Given the description of an element on the screen output the (x, y) to click on. 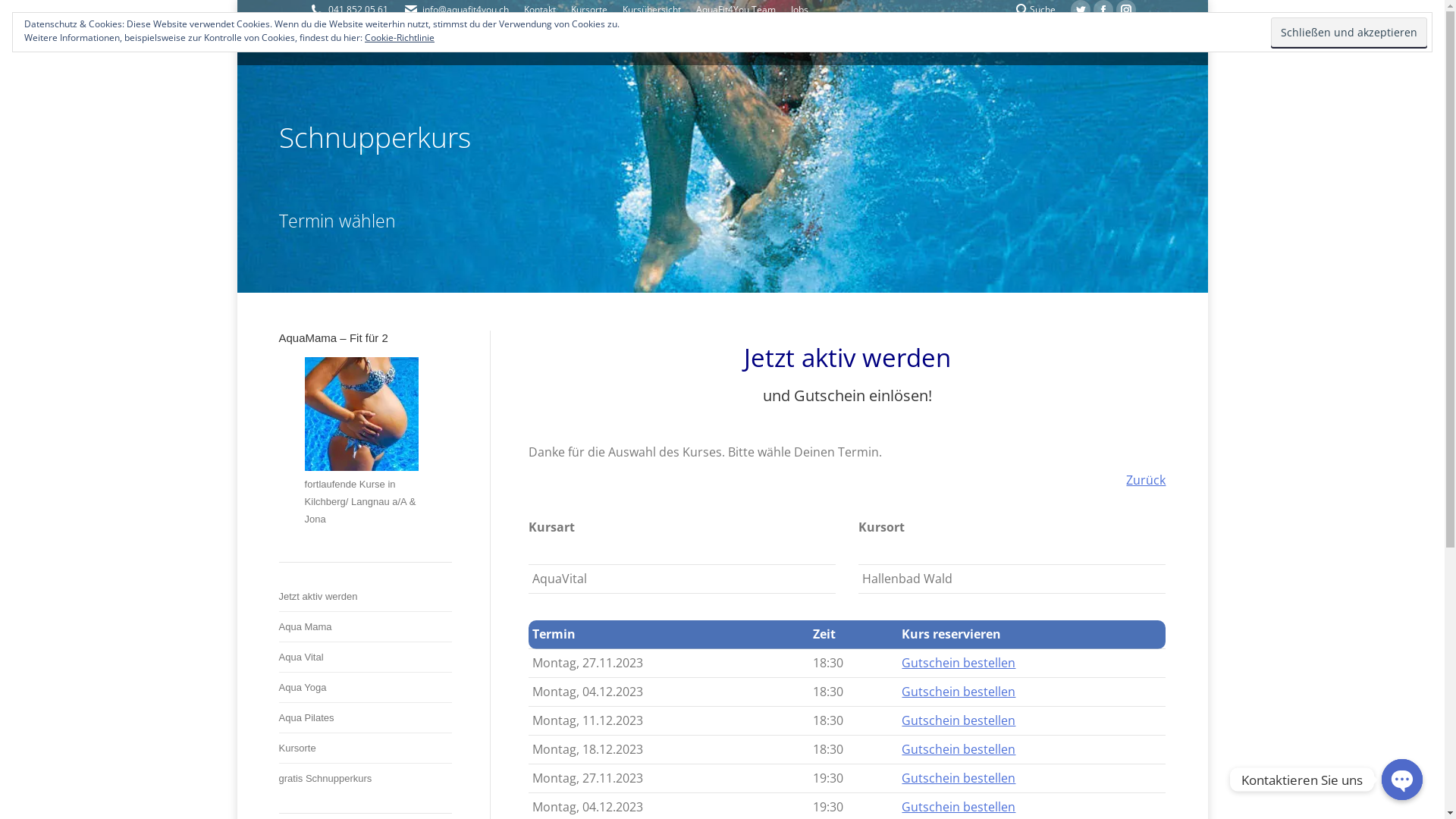
Facebook page opens in new window Element type: text (1103, 9)
Los! Element type: text (26, 17)
Aqua Pilates Element type: text (306, 717)
Jetzt aktiv werden Element type: text (318, 596)
Jobs Element type: text (798, 9)
Instagram page opens in new window Element type: text (1125, 9)
Aqua Yoga Element type: text (302, 687)
gratis Schnupperkurs Element type: text (325, 778)
Gutschein bestellen Element type: text (958, 777)
Kontakt Element type: text (703, 791)
Gutschein bestellen Element type: text (958, 691)
Kursorte Element type: text (588, 9)
Aqua Vital Element type: text (301, 657)
Disclaimer und Datenschutzbelehrung Element type: text (953, 791)
Impressum Element type: text (1079, 791)
AquaTime Element type: text (1143, 791)
AquaVision Element type: text (760, 791)
Gutschein bestellen Element type: text (958, 806)
Gutschein bestellen Element type: text (958, 748)
Kontakt Element type: text (539, 9)
AGB Element type: text (843, 791)
Aqua Mama Element type: text (305, 626)
Kursorte Element type: text (297, 748)
Twitter page opens in new window Element type: text (1080, 9)
Cookie-Richtlinie Element type: text (399, 37)
AquaFit4You Team Element type: text (735, 9)
Jobs Element type: text (809, 791)
Suche Element type: text (1033, 9)
Gutschein bestellen Element type: text (958, 662)
Gutschein bestellen Element type: text (958, 720)
